Given the description of an element on the screen output the (x, y) to click on. 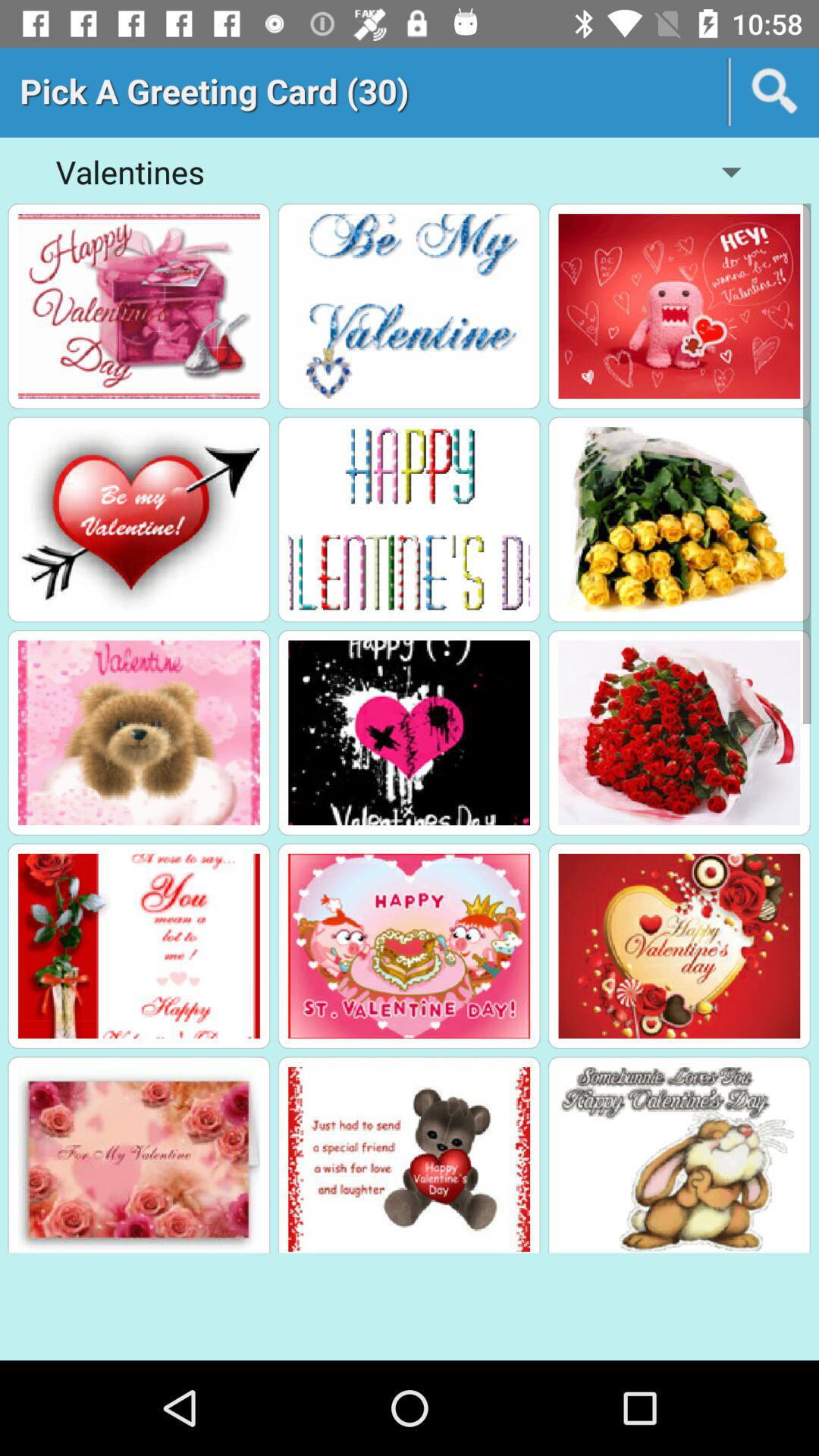
shows greeting card (409, 305)
